Given the description of an element on the screen output the (x, y) to click on. 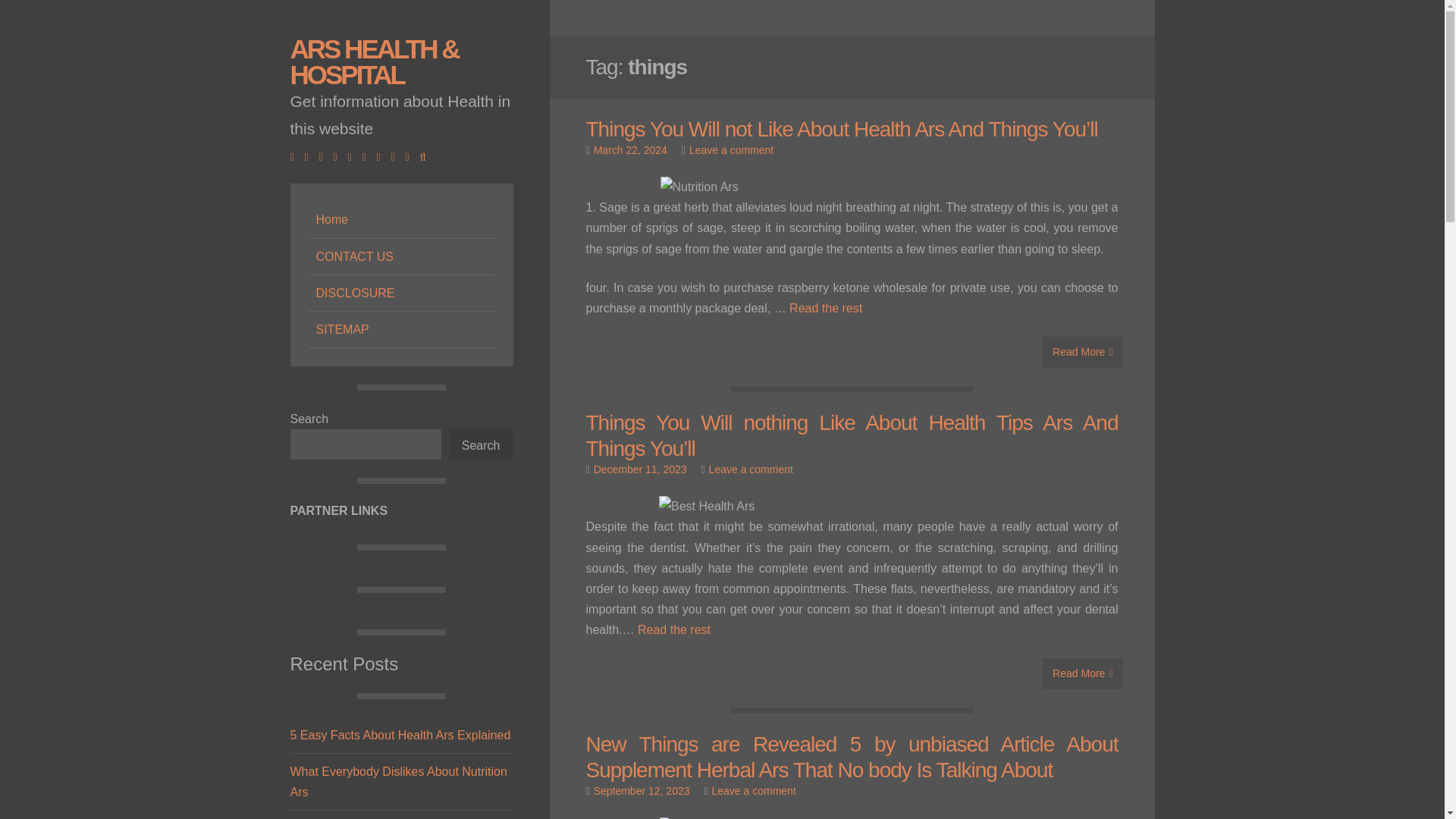
YouTube (368, 156)
Pinterest (382, 156)
DISCLOSURE (401, 293)
Instagram (353, 156)
Search (480, 443)
Twitter (309, 156)
VK (411, 156)
CONTACT US (401, 257)
VK (411, 156)
What Everybody Dislikes About Nutrition Ars (397, 781)
